Given the description of an element on the screen output the (x, y) to click on. 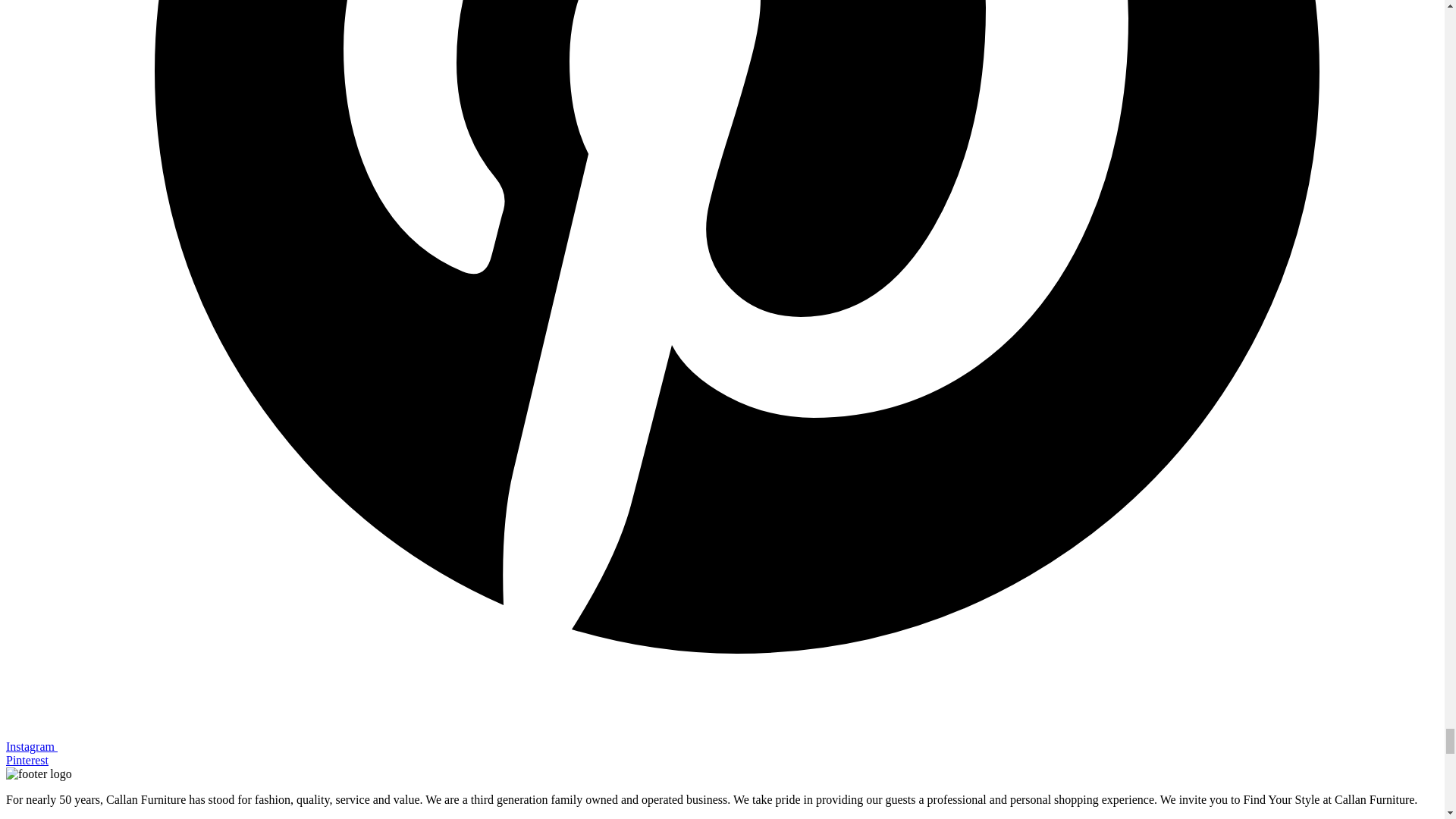
Visit Our Pinterest Page (710, 753)
